Given the description of an element on the screen output the (x, y) to click on. 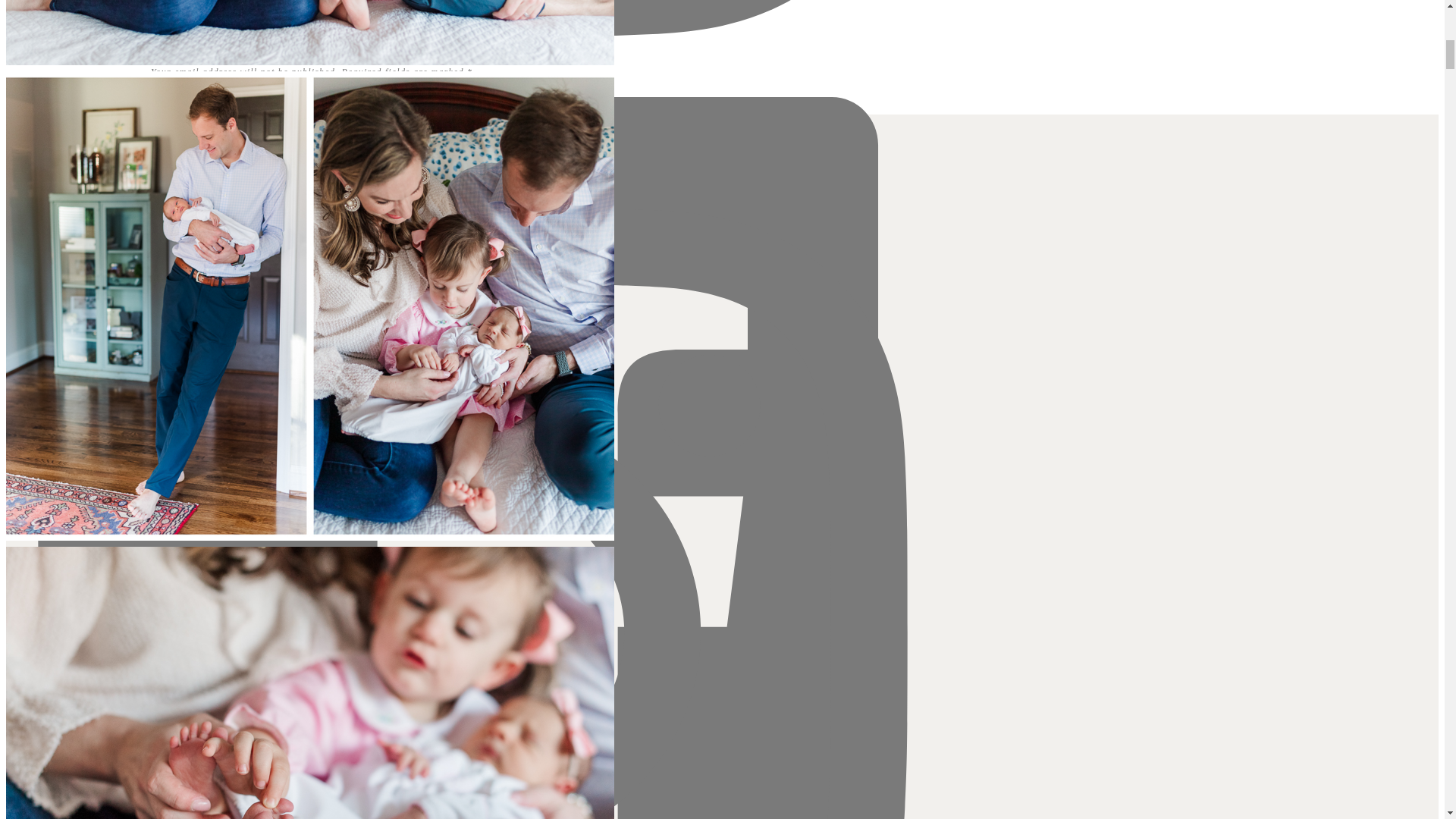
Post Comment (311, 397)
yes (132, 305)
subscribe (236, 366)
Instagram-color Created with Sketch. (460, 18)
Post Comment (311, 397)
Design by Breeze Web Design Studio (460, 171)
Learn how your comment data is processed (398, 428)
subscribe (213, 335)
Instagram-color Created with Sketch. (460, 19)
